Given the description of an element on the screen output the (x, y) to click on. 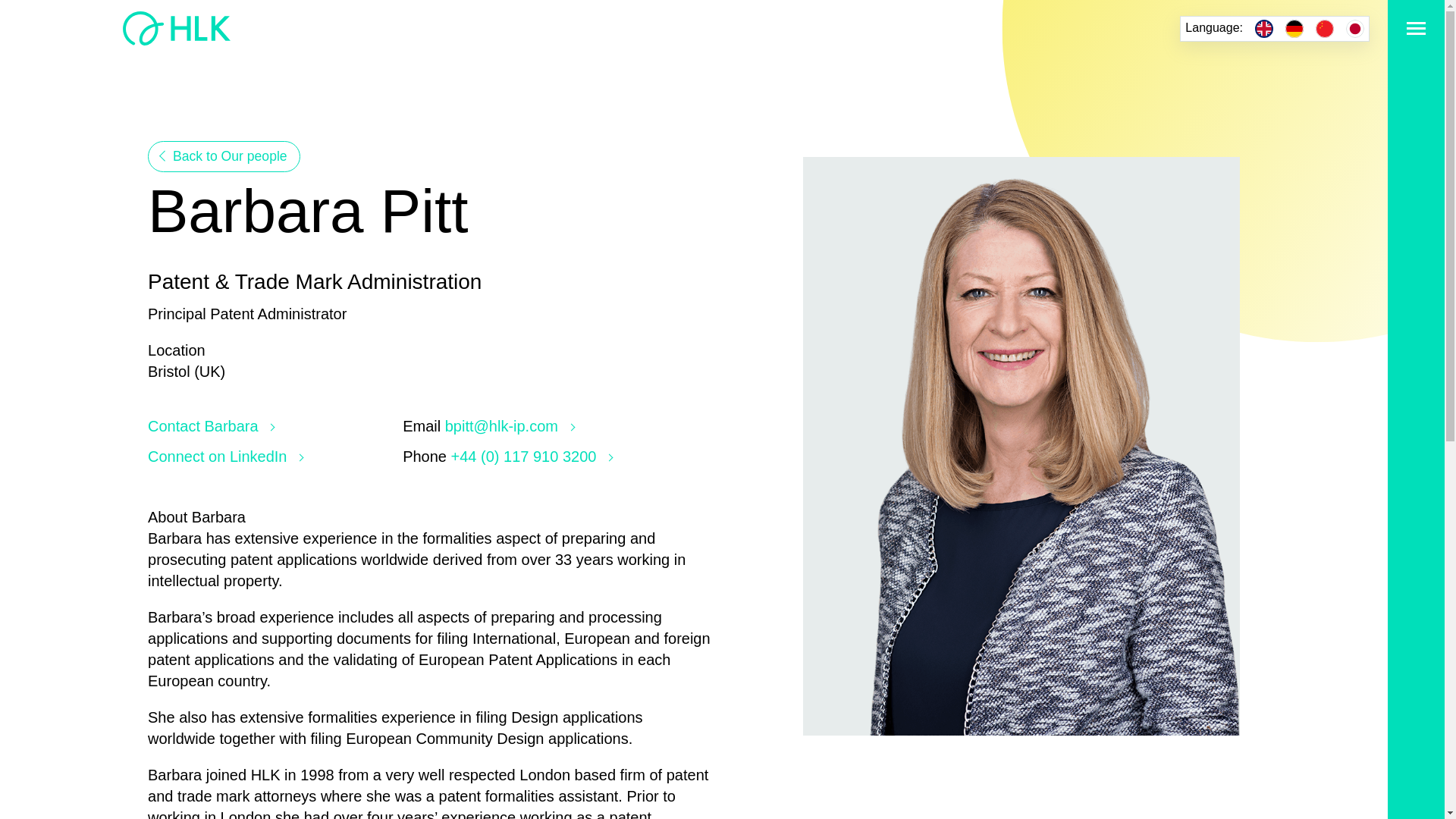
Deutsch (1294, 28)
English (1263, 28)
